Given the description of an element on the screen output the (x, y) to click on. 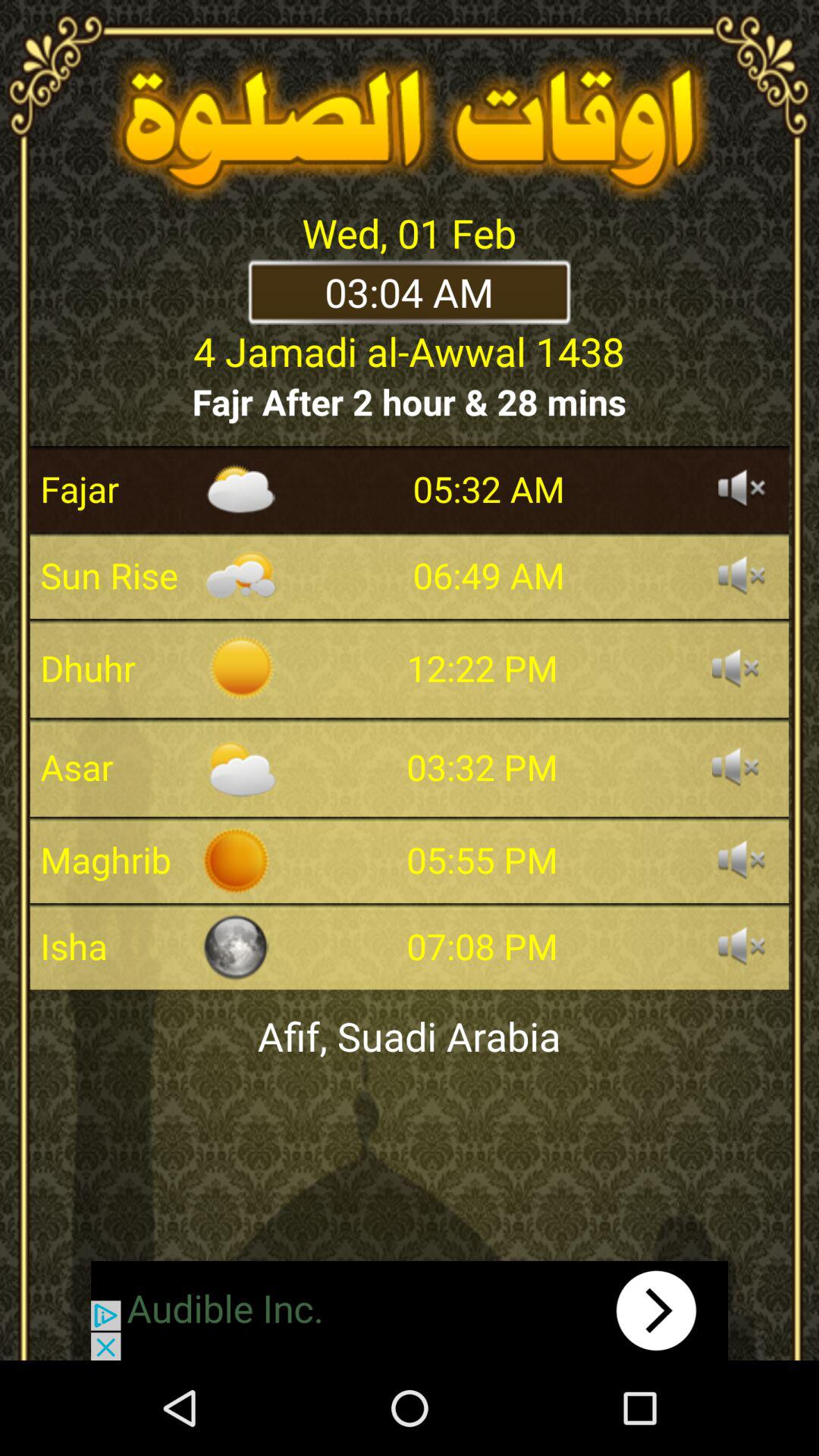
advertisement for audible (409, 1310)
